Given the description of an element on the screen output the (x, y) to click on. 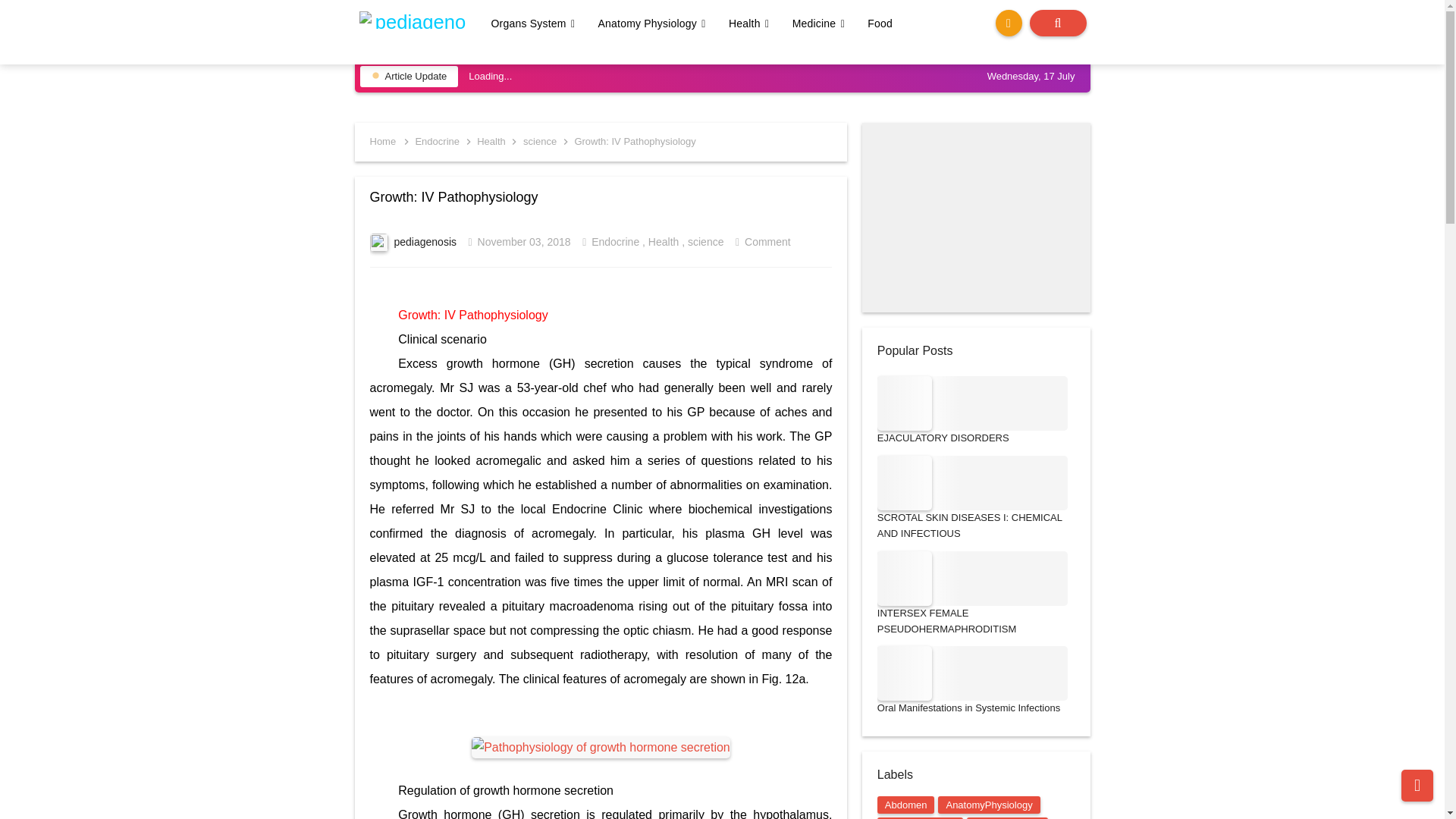
Oral Manifestations in Systemic Infections (904, 673)
Health (492, 141)
Anatomy Physiology (654, 23)
Medicine (821, 23)
EJACULATORY DISORDERS (904, 402)
Endocrine (437, 141)
permanent link (525, 241)
Home (382, 141)
science (540, 141)
Pathophysiology of growth hormone secretion (600, 747)
Health (492, 141)
SCROTAL SKIN DISEASES I: CHEMICAL AND INFECTIOUS (904, 482)
Organs System (535, 23)
Health (751, 23)
November 03, 2018 (525, 241)
